Given the description of an element on the screen output the (x, y) to click on. 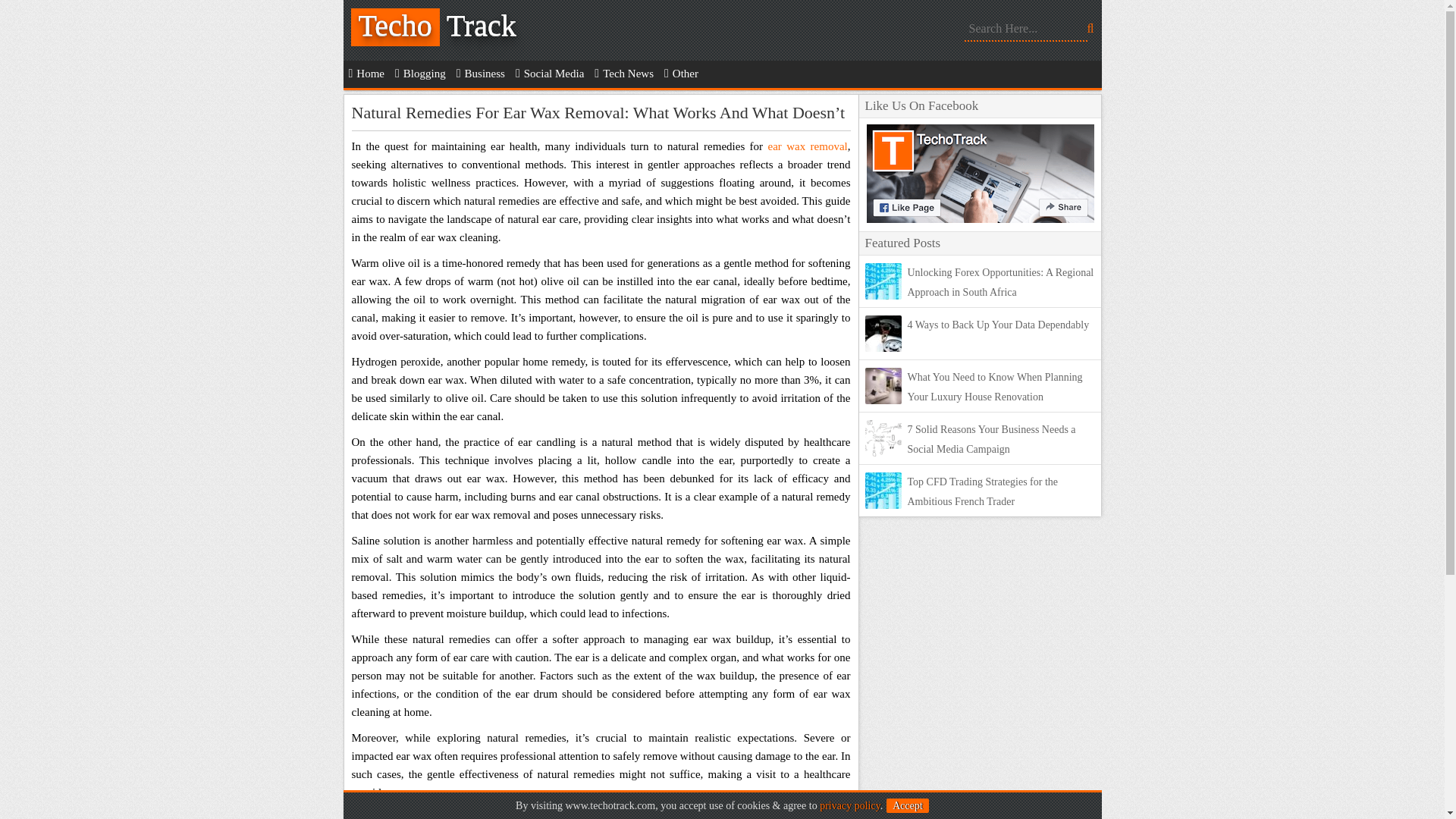
Accept (907, 805)
7 Solid Reasons Your Business Needs a Social Media Campaign (991, 439)
Social Media (550, 72)
ear wax removal (807, 146)
4 Ways to Back Up Your Data Dependably (998, 324)
Blogging (420, 72)
Techo Track (456, 30)
Tech News (624, 72)
Home (366, 72)
privacy policy (849, 805)
Top CFD Trading Strategies for the Ambitious French Trader (982, 490)
Business (481, 72)
Other (681, 72)
